Given the description of an element on the screen output the (x, y) to click on. 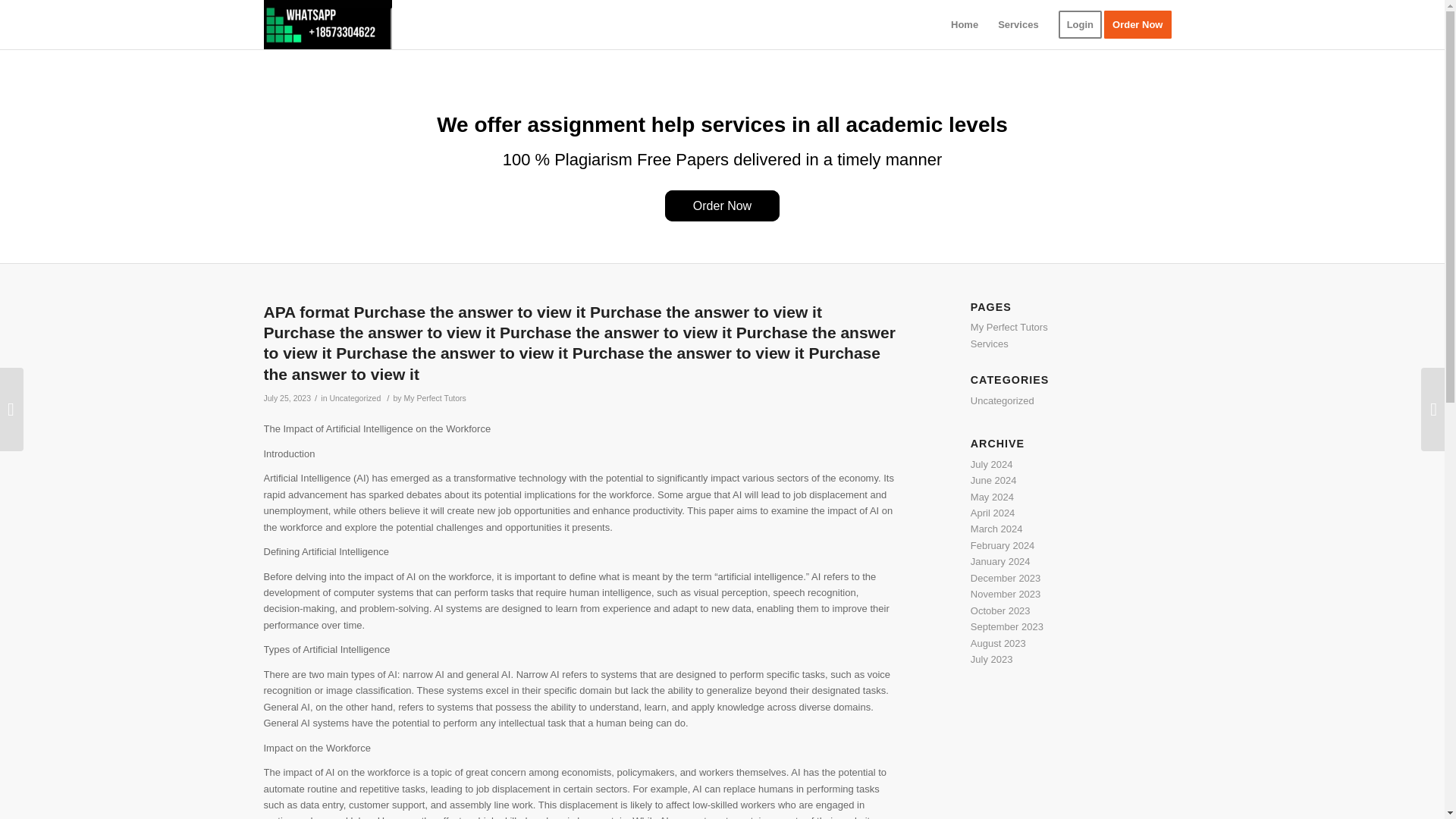
January 2024 (1000, 561)
December 2023 (1006, 577)
March 2024 (997, 528)
Order Now (721, 205)
July 2024 (992, 464)
Uncategorized (354, 397)
My Perfect Tutors (434, 397)
Posts by My Perfect Tutors (434, 397)
November 2023 (1006, 593)
Home (964, 24)
April 2024 (992, 512)
Login (1080, 24)
September 2023 (1007, 626)
Services (990, 343)
